Given the description of an element on the screen output the (x, y) to click on. 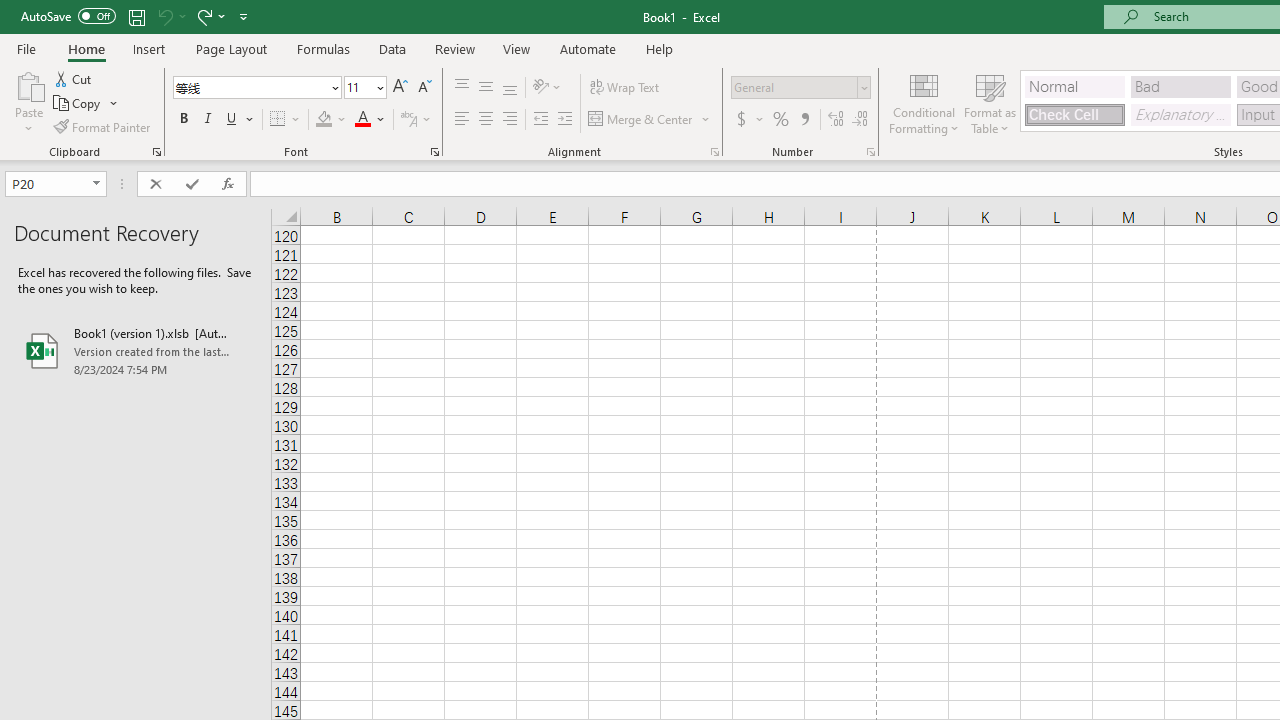
Underline (239, 119)
Align Right (509, 119)
Decrease Font Size (424, 87)
Copy (78, 103)
Decrease Decimal (859, 119)
Fill Color (331, 119)
Top Align (461, 87)
Font Size (358, 87)
